Given the description of an element on the screen output the (x, y) to click on. 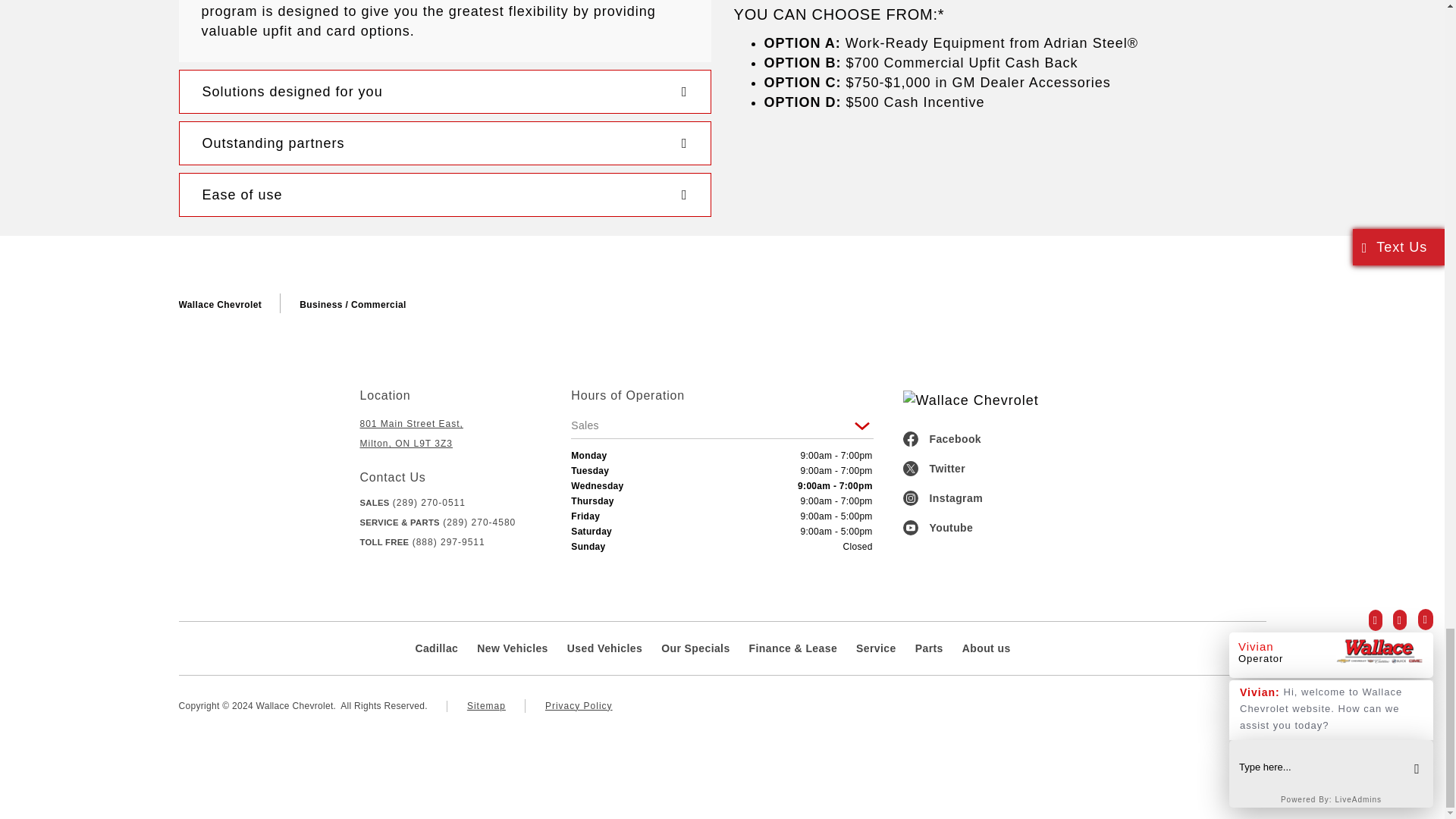
Go to Wallace Chevrolet. (220, 304)
Powered by EDealer (1235, 707)
